Given the description of an element on the screen output the (x, y) to click on. 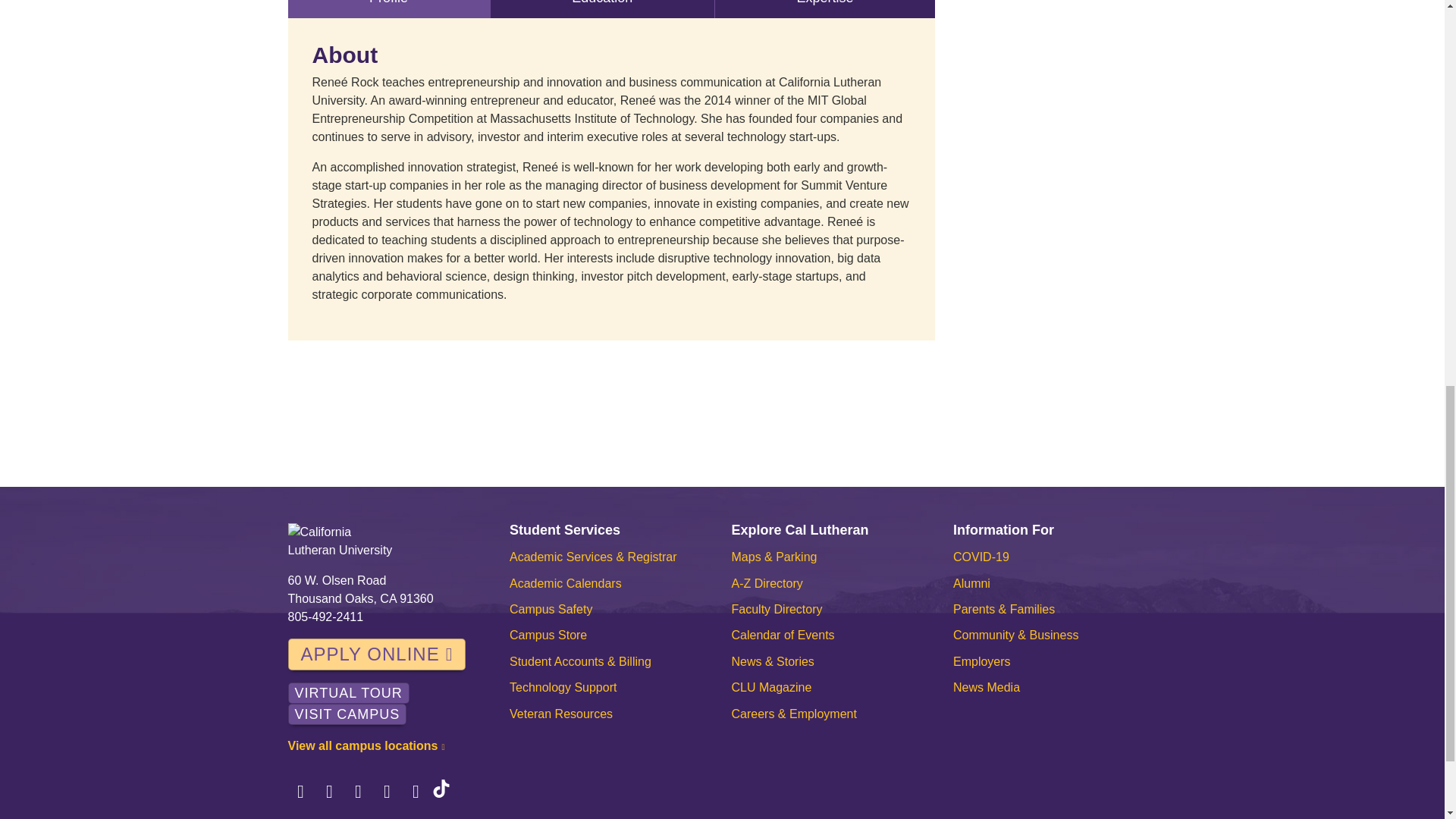
TikTok (440, 791)
Facebook (301, 791)
Instagram (358, 791)
LinkedIn (387, 791)
YouTube (416, 791)
